Given the description of an element on the screen output the (x, y) to click on. 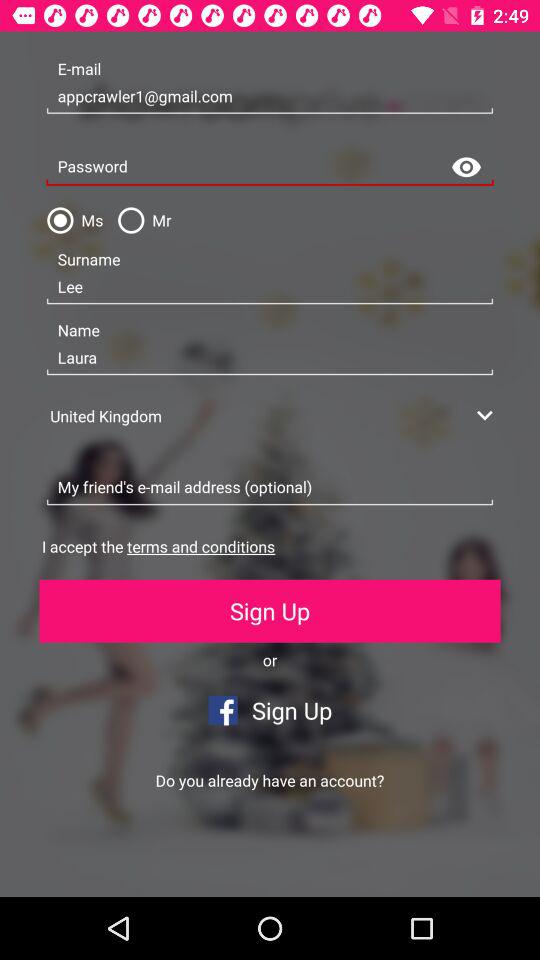
turn off laura item (269, 357)
